Given the description of an element on the screen output the (x, y) to click on. 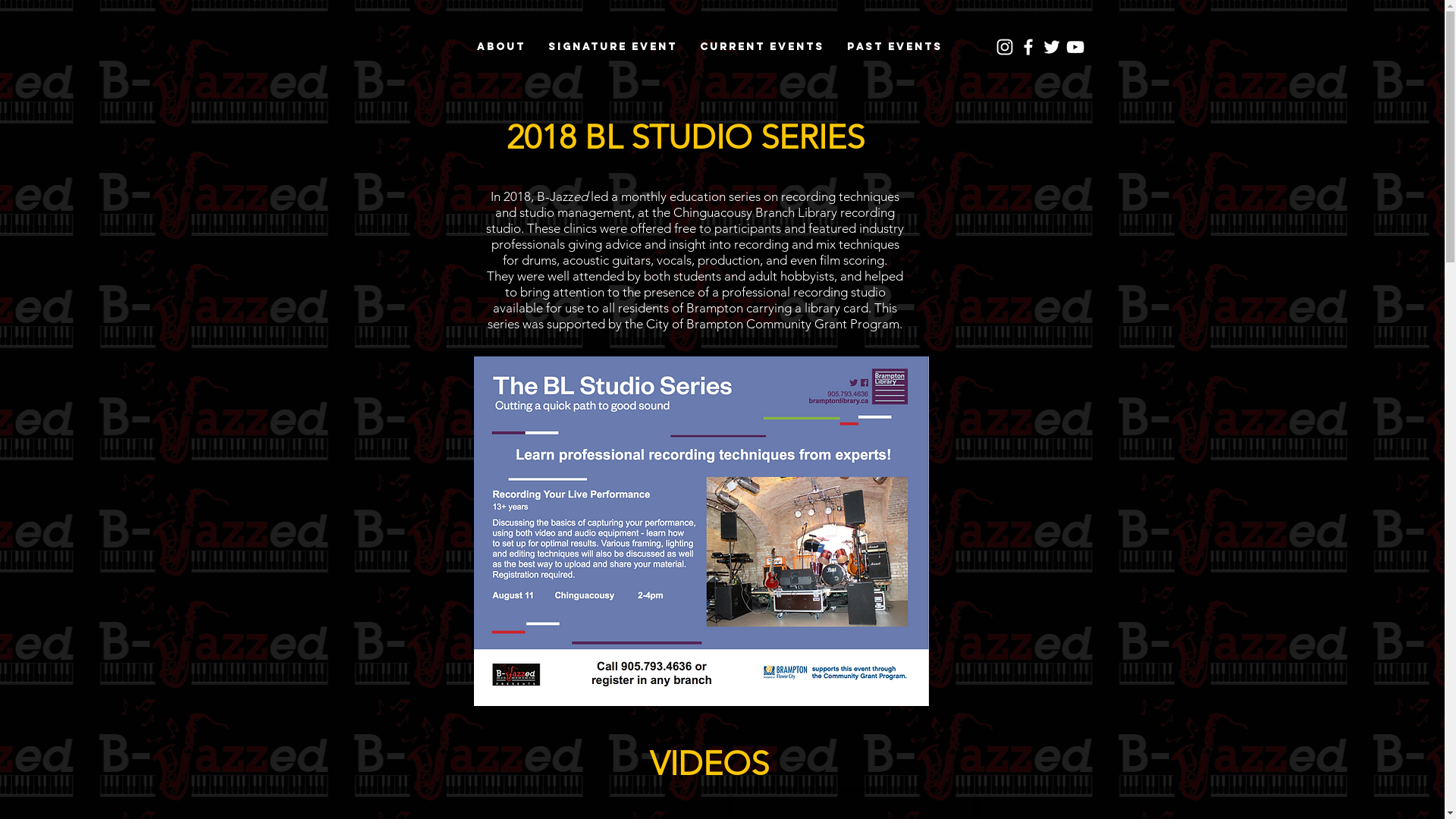
Current Events Element type: text (761, 46)
Past Events Element type: text (894, 46)
Signature Event Element type: text (612, 46)
About Element type: text (500, 46)
